Given the description of an element on the screen output the (x, y) to click on. 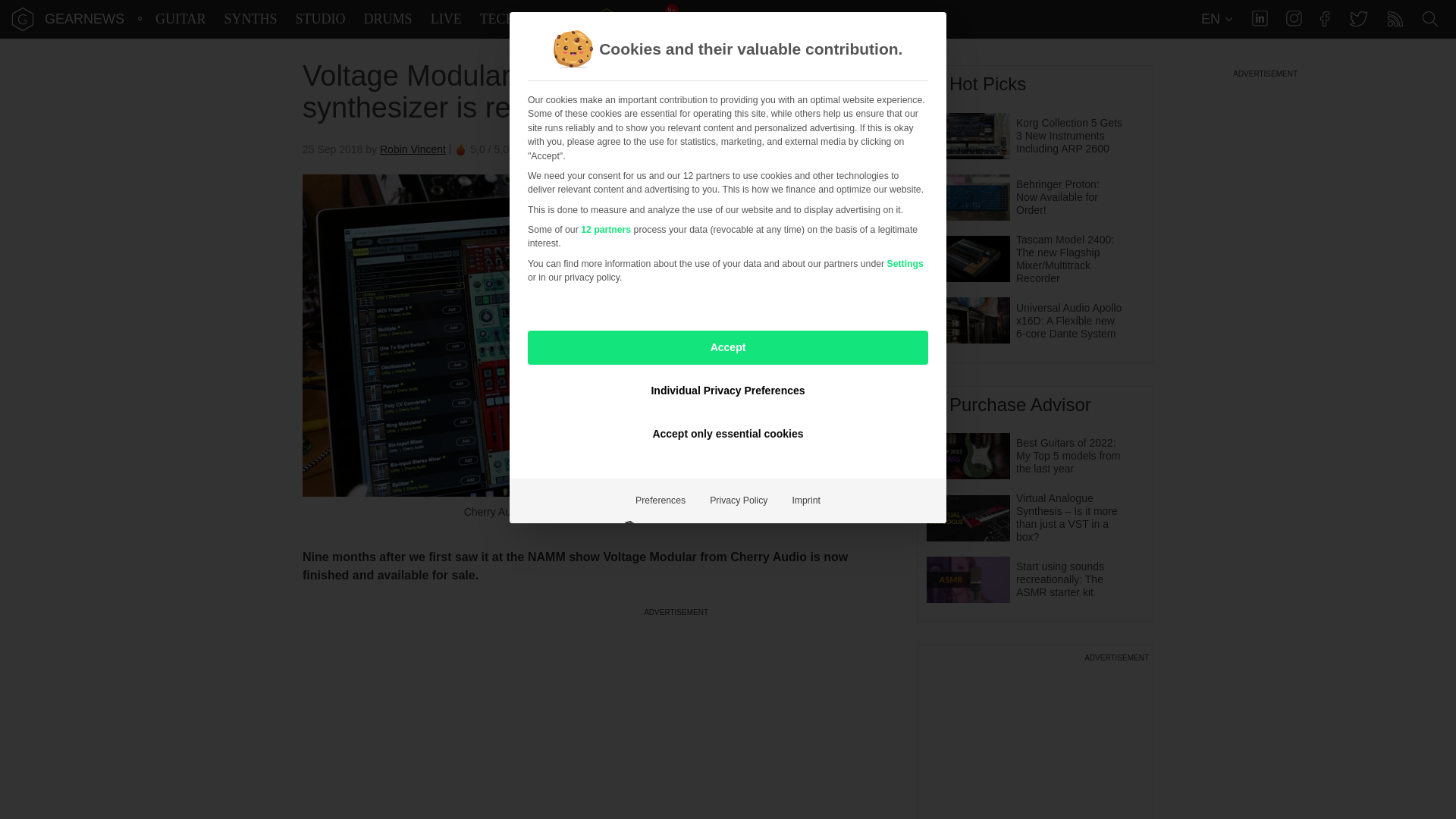
Instagram (1293, 18)
LinkedIn (1260, 18)
STUDIO (320, 19)
GUITAR (181, 19)
DEALS (630, 19)
LIVE (445, 19)
SYNTHS (250, 19)
DRUMS (387, 19)
OTHER (556, 19)
TECH (497, 19)
GEARNEWS (84, 18)
Approximate reading time: (603, 149)
